Given the description of an element on the screen output the (x, y) to click on. 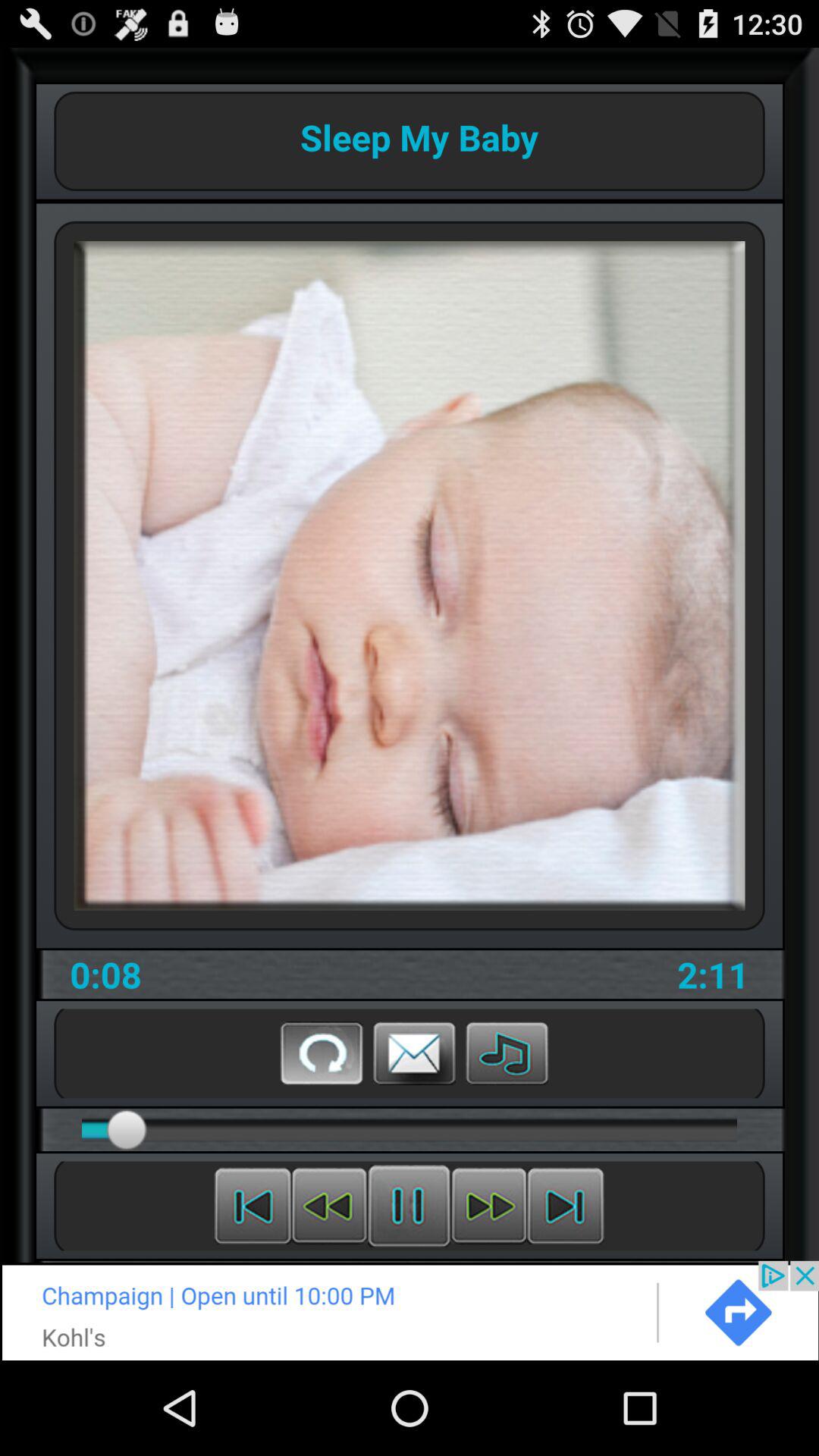
message of store (414, 1053)
